Given the description of an element on the screen output the (x, y) to click on. 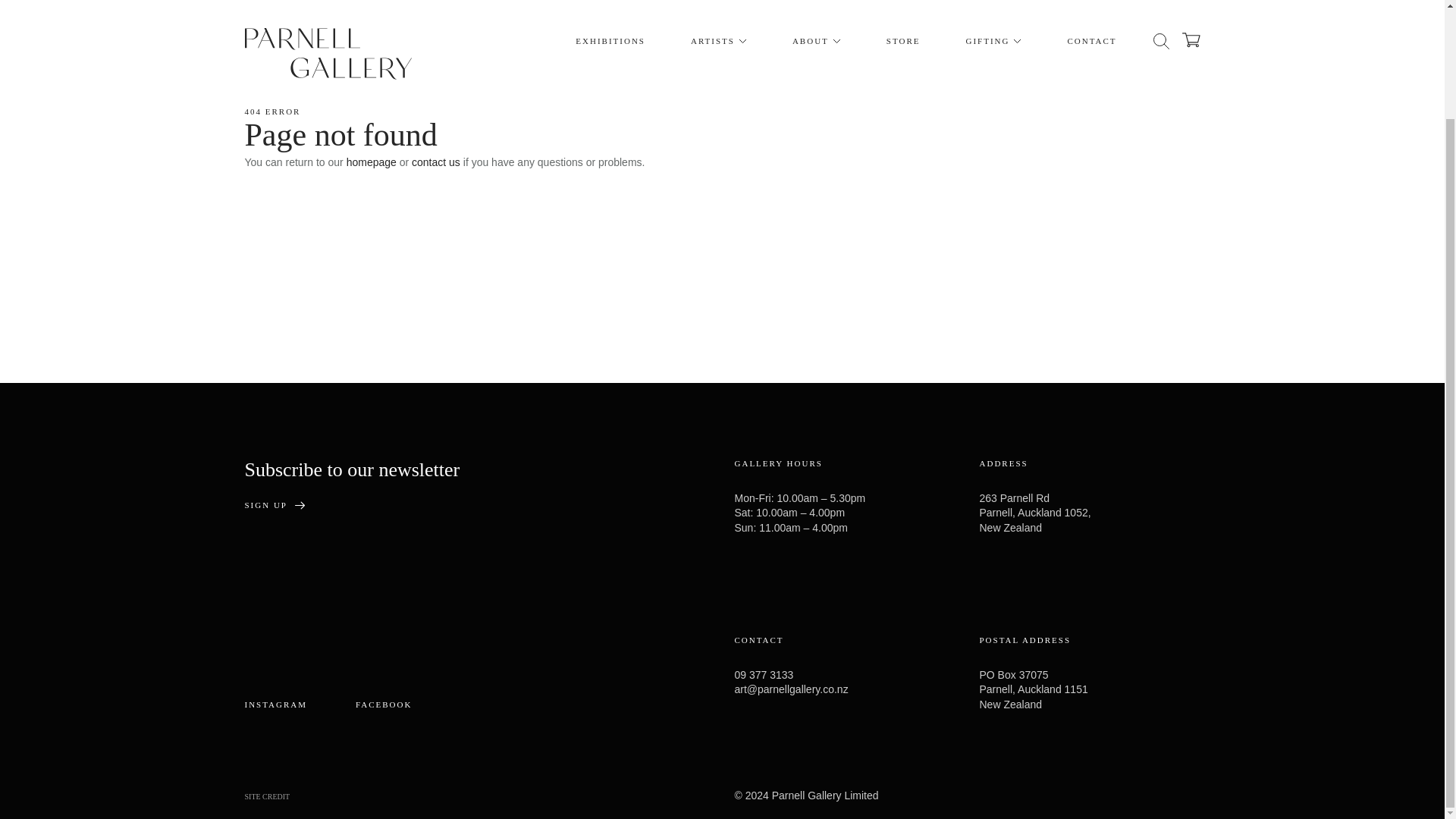
09 377 3133 (763, 674)
homepage (371, 162)
SITE CREDIT (266, 796)
INSTAGRAM (275, 705)
contact us (436, 162)
FACEBOOK (383, 705)
SIGN UP (274, 505)
